Given the description of an element on the screen output the (x, y) to click on. 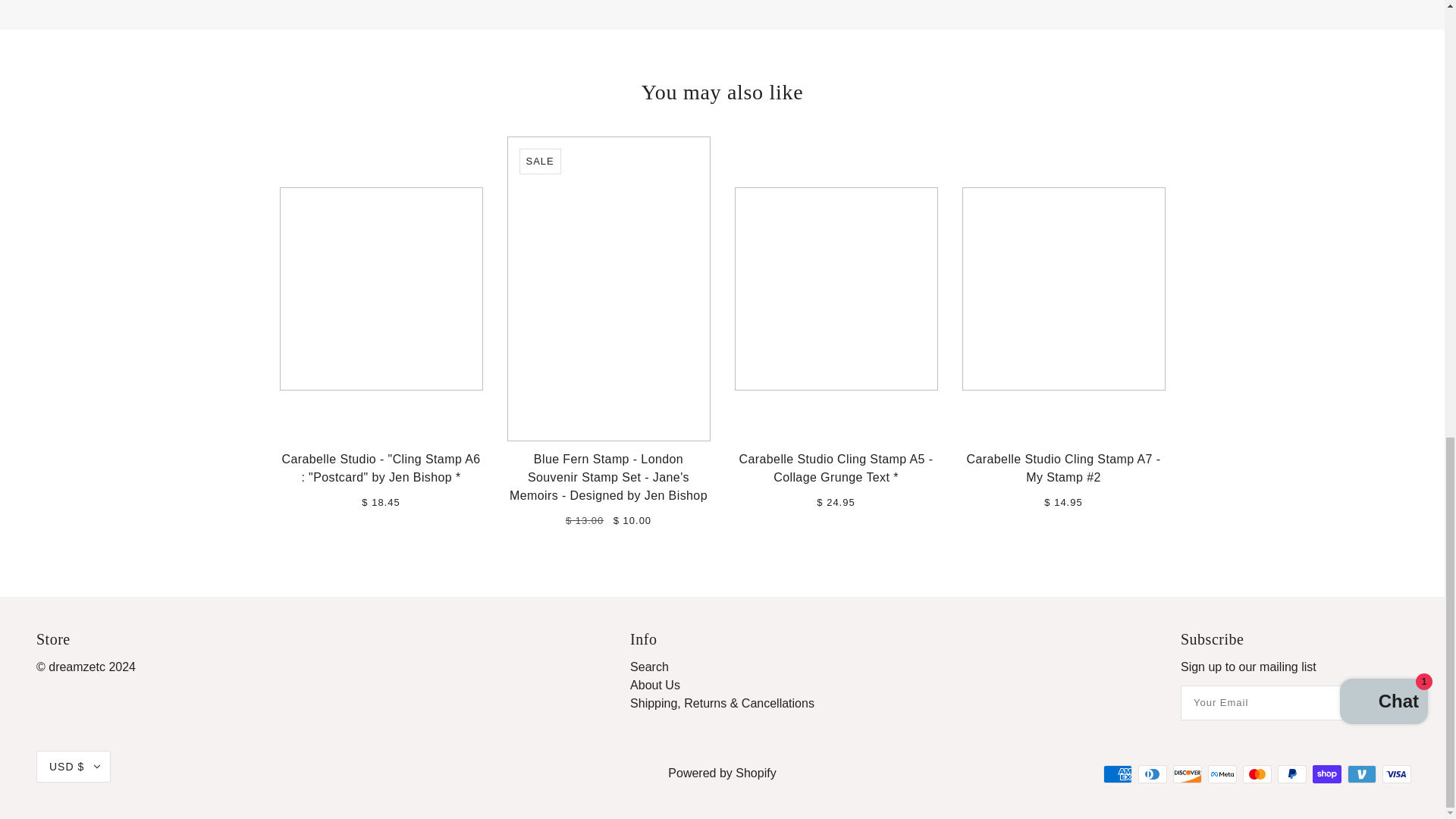
Search (649, 666)
American Express (1117, 773)
Meta Pay (1222, 773)
Discover (1187, 773)
Visa (1395, 773)
Shop Pay (1326, 773)
Venmo (1361, 773)
Mastercard (1257, 773)
About Us (654, 684)
Diners Club (1152, 773)
PayPal (1292, 773)
